Given the description of an element on the screen output the (x, y) to click on. 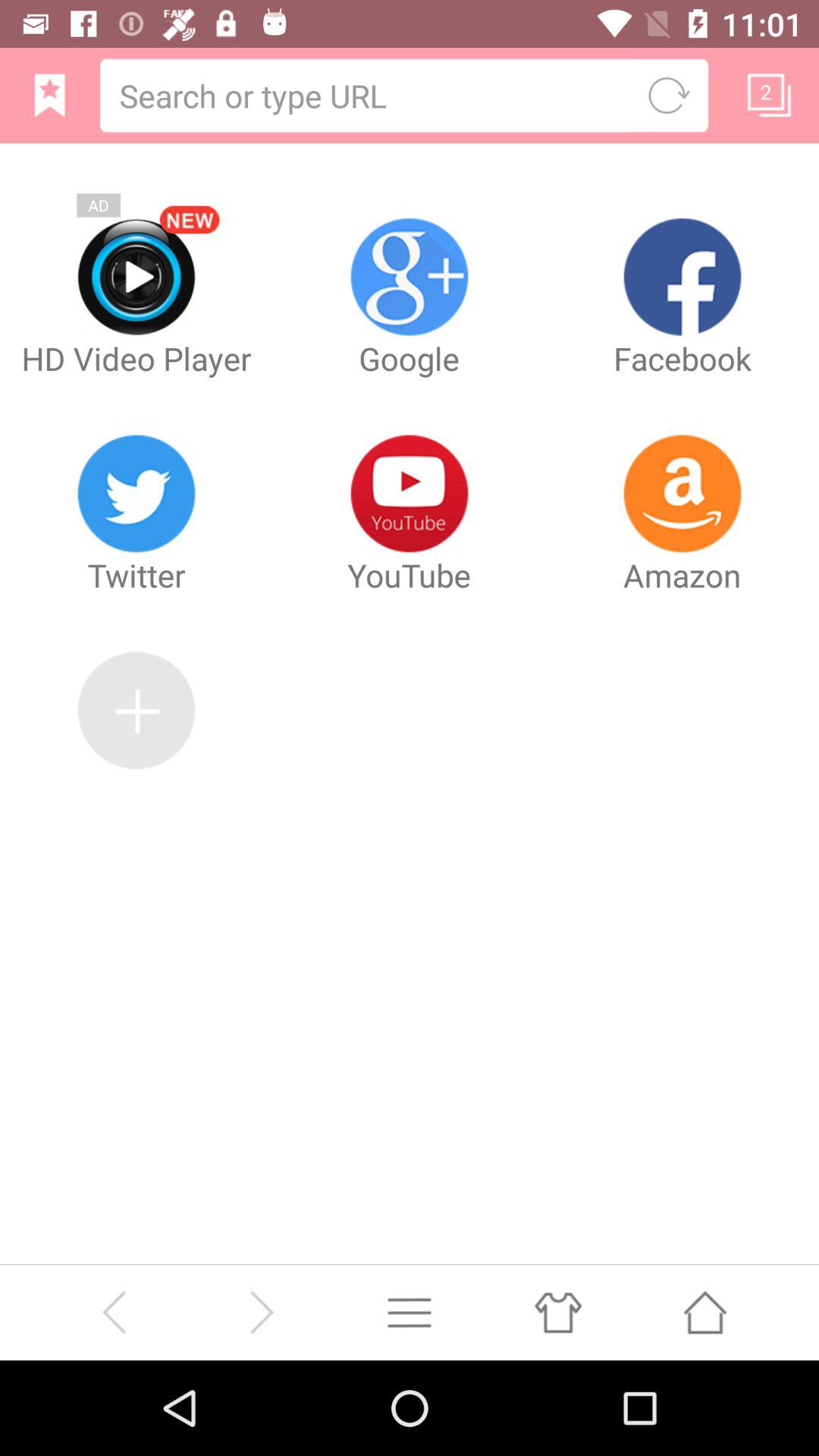
home page (49, 95)
